Given the description of an element on the screen output the (x, y) to click on. 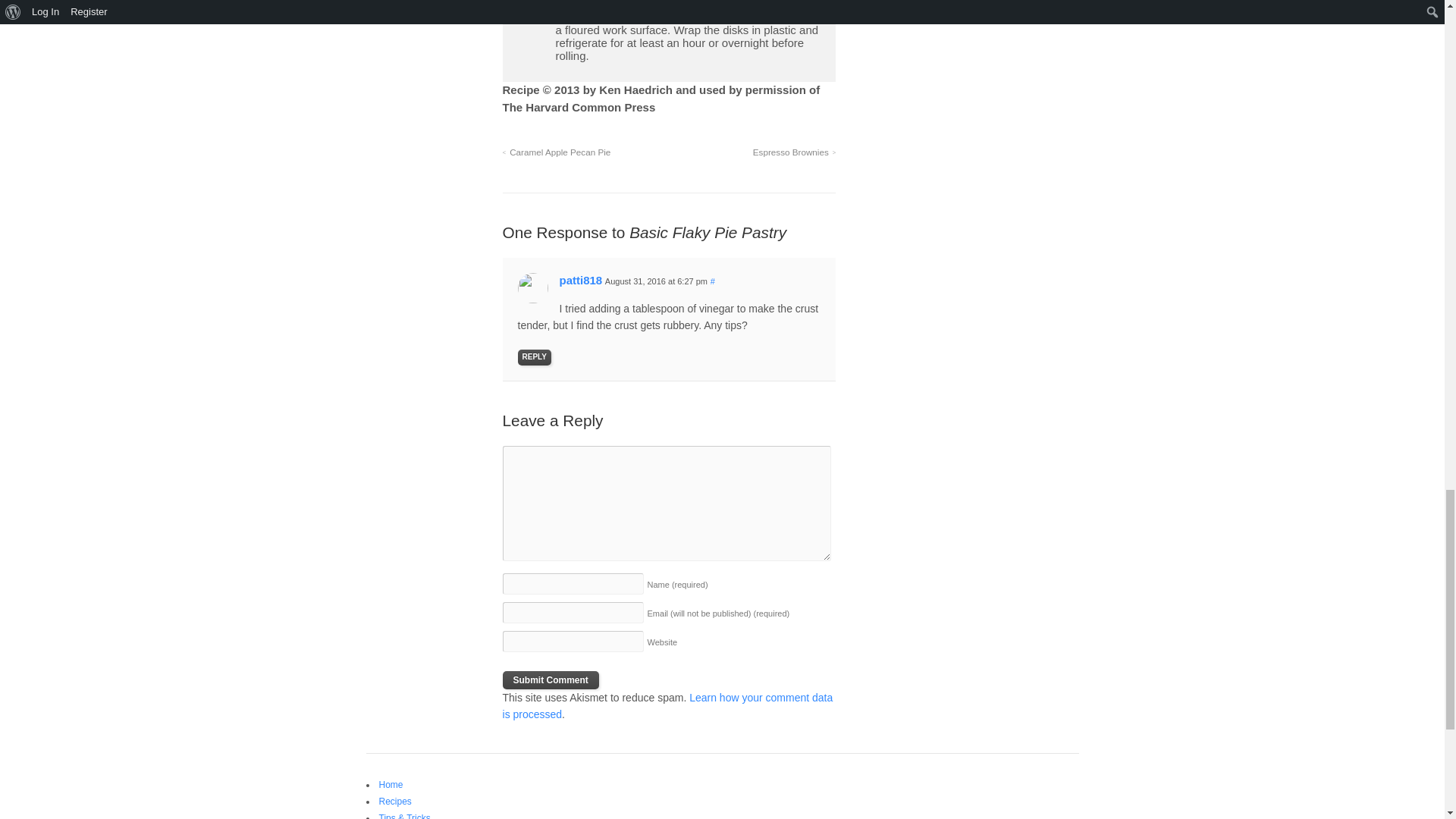
Submit Comment (550, 679)
REPLY (534, 357)
Espresso Brownies (793, 152)
Learn how your comment data is processed (667, 705)
patti818 (580, 279)
Caramel Apple Pecan Pie (556, 152)
Submit Comment (550, 679)
